Given the description of an element on the screen output the (x, y) to click on. 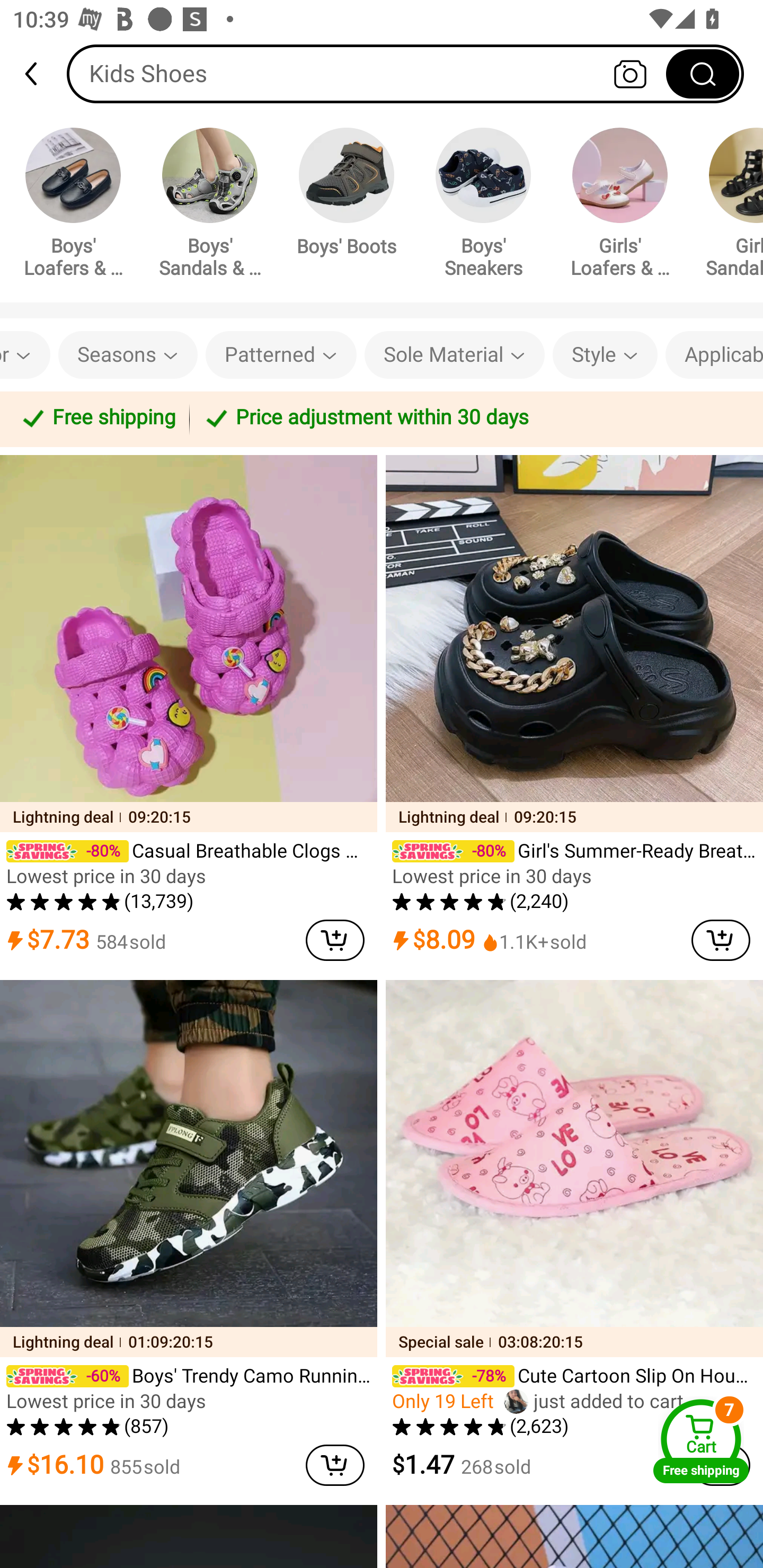
back (39, 73)
Kids Shoes (405, 73)
Boys' Loafers & Slip-Ons (73, 205)
Boys' Sandals & Slippers (209, 205)
Boys' Boots (346, 195)
Boys' Sneakers (483, 205)
Girls' Loafers & Slip-Ons (619, 205)
Girls' Sandals & Slippers (728, 205)
Color (25, 354)
Seasons (127, 354)
Patterned (280, 354)
Sole Material (454, 354)
Style (604, 354)
Applicable Age (714, 354)
Free shipping (97, 418)
Price adjustment within 30 days (472, 418)
cart delete (334, 939)
cart delete (720, 939)
Cart Free shipping Cart (701, 1440)
cart delete (334, 1465)
